Given the description of an element on the screen output the (x, y) to click on. 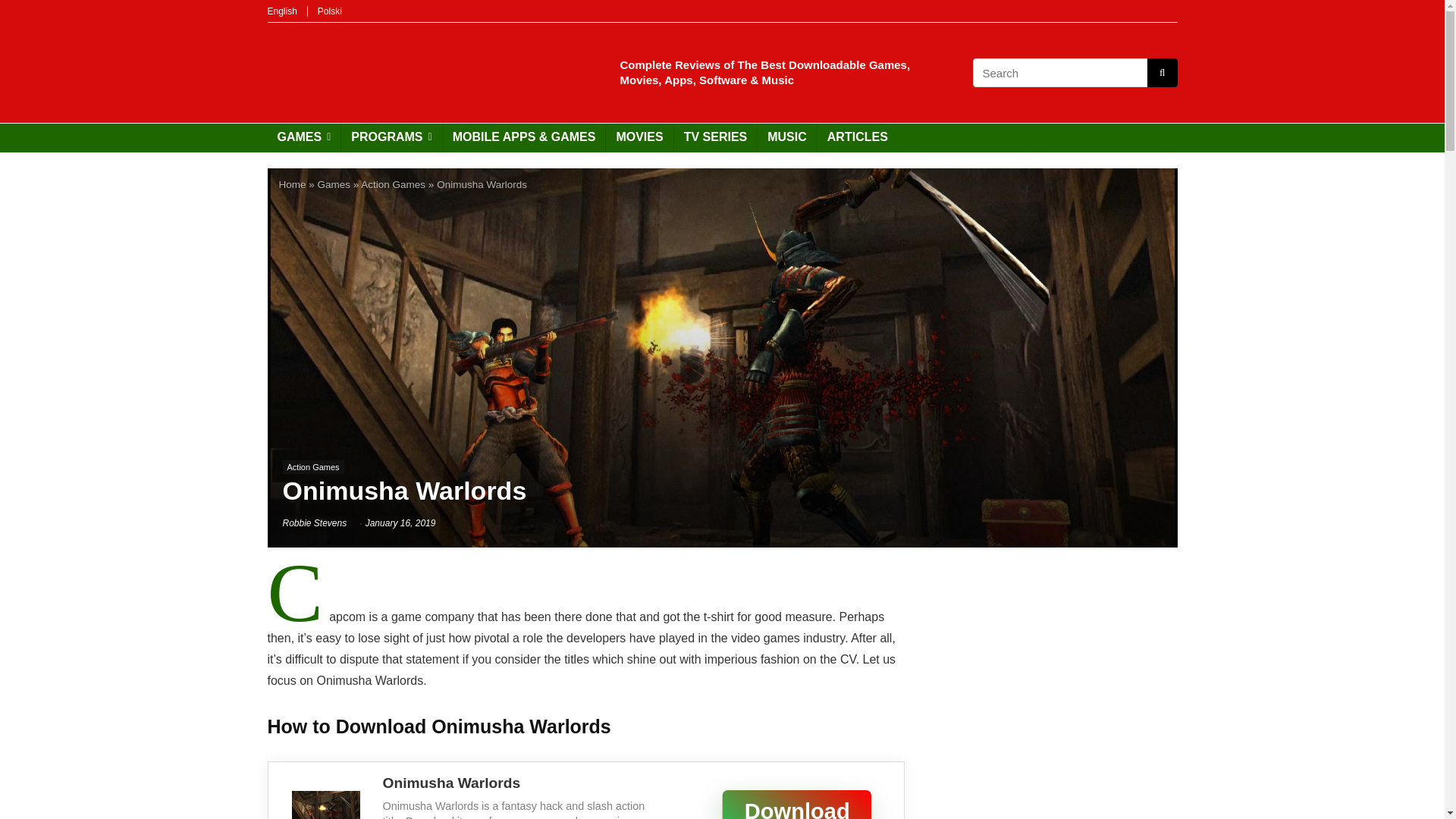
View all posts in Action Games (312, 467)
Home (292, 184)
GAMES (303, 137)
Action Games (312, 467)
Games (333, 184)
Robbie Stevens (314, 522)
TV SERIES (715, 137)
Polski (329, 10)
Action Games (393, 184)
English (281, 10)
MUSIC (786, 137)
ARTICLES (857, 137)
MOVIES (638, 137)
Download (763, 801)
PROGRAMS (390, 137)
